Given the description of an element on the screen output the (x, y) to click on. 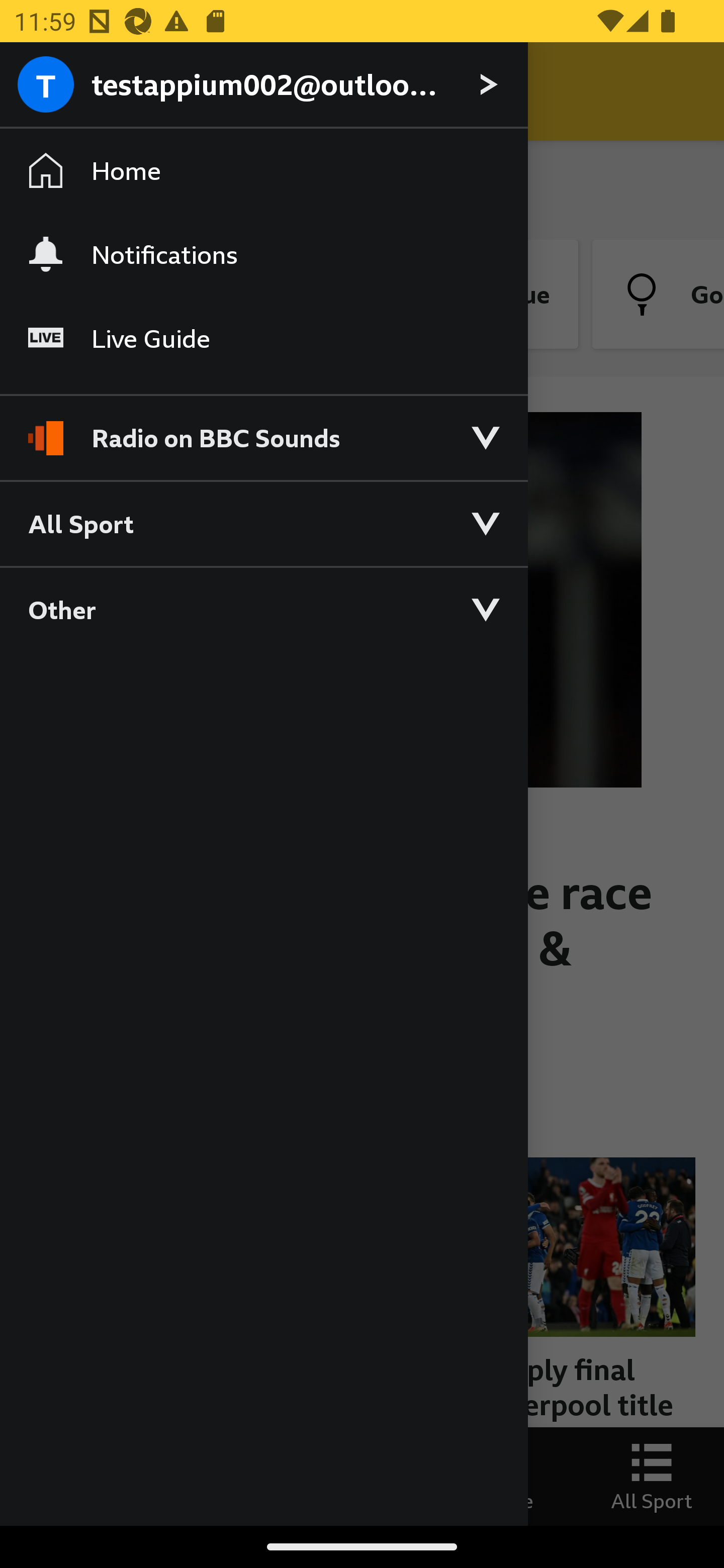
testappium002@outlook.com (263, 85)
Home (263, 170)
Notifications (263, 253)
Live Guide (263, 338)
Radio on BBC Sounds (263, 429)
All Sport (263, 522)
Other (263, 609)
